Given the description of an element on the screen output the (x, y) to click on. 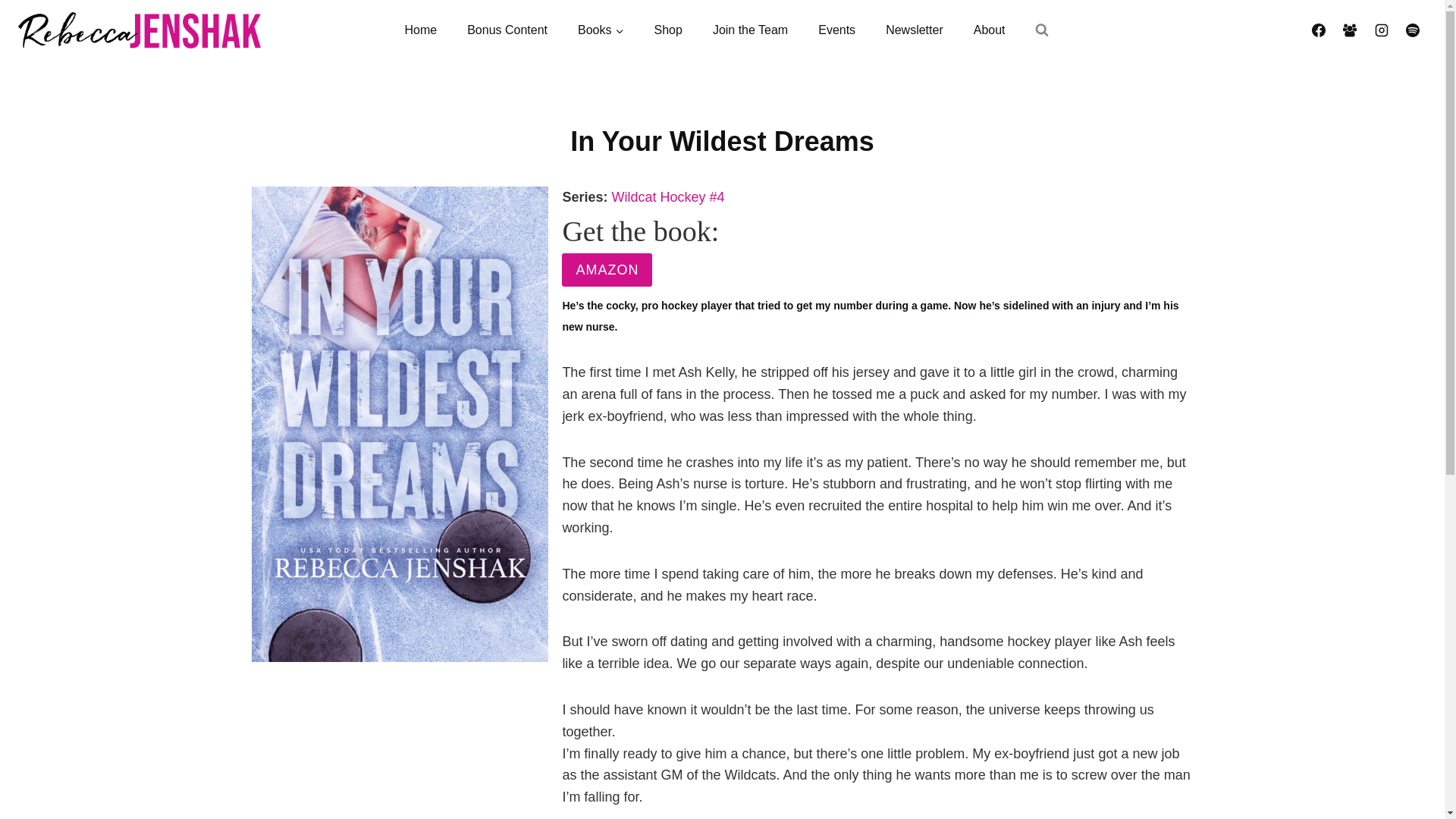
Home (419, 30)
Events (836, 30)
About (989, 30)
Bonus Content (506, 30)
Books (600, 30)
AMAZON (607, 269)
Shop (668, 30)
Newsletter (914, 30)
Join the Team (750, 30)
